Given the description of an element on the screen output the (x, y) to click on. 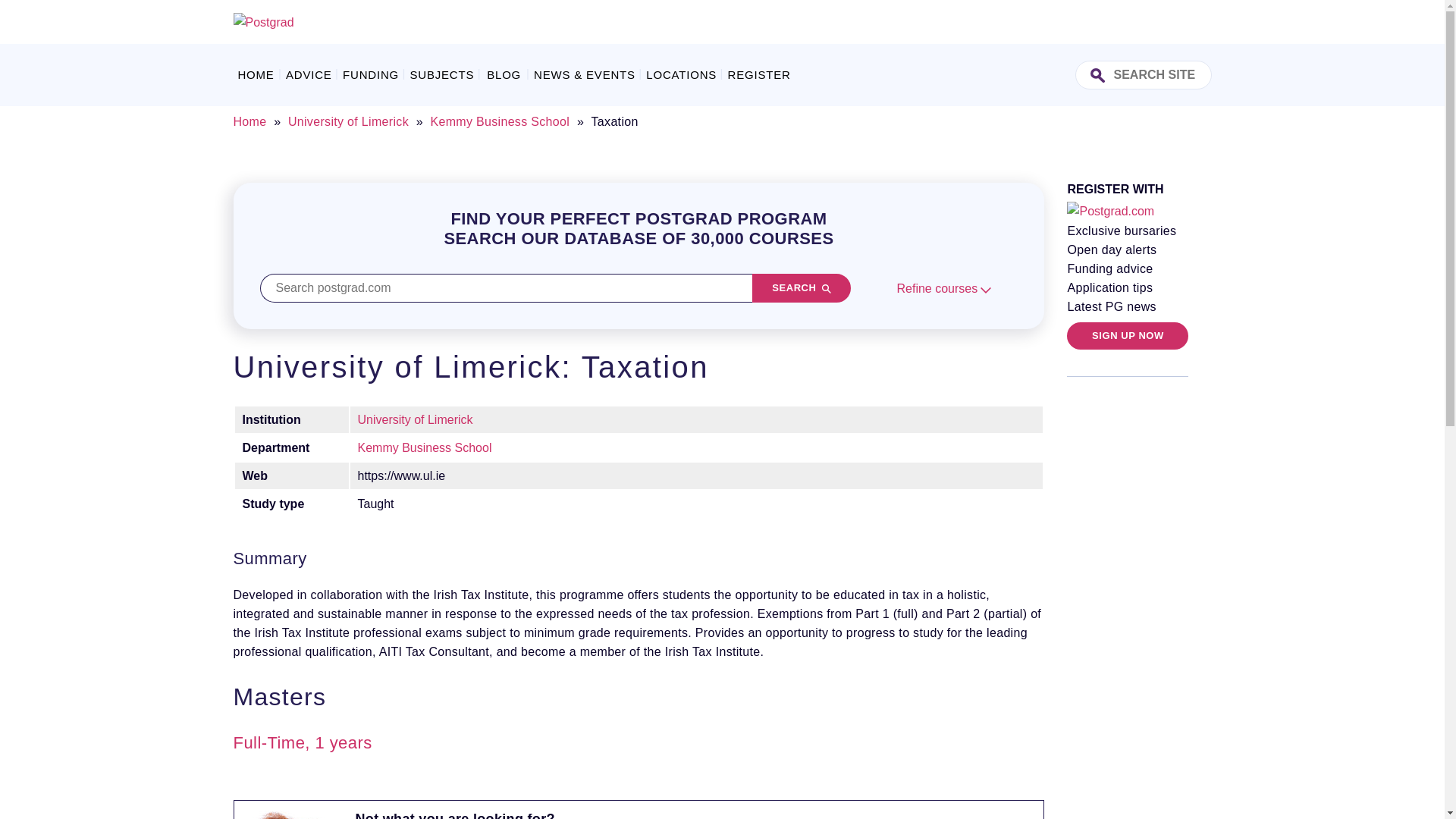
SUBJECTS (441, 74)
FUNDING (371, 74)
Search Site: (1143, 74)
